Given the description of an element on the screen output the (x, y) to click on. 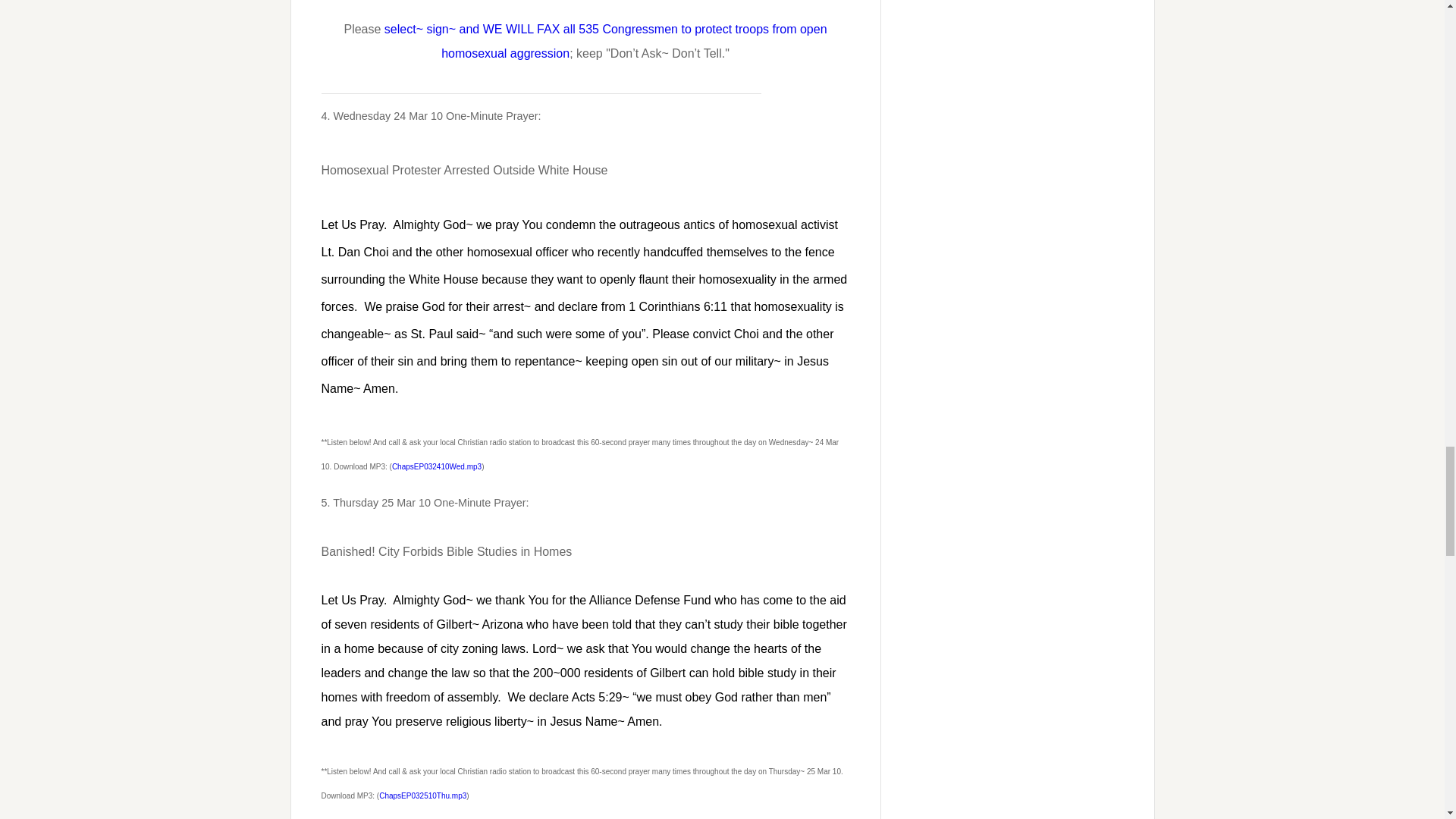
ChapsEP032410Wed.mp3 (436, 466)
ChapsEP032510Thu.mp3 (421, 795)
